Given the description of an element on the screen output the (x, y) to click on. 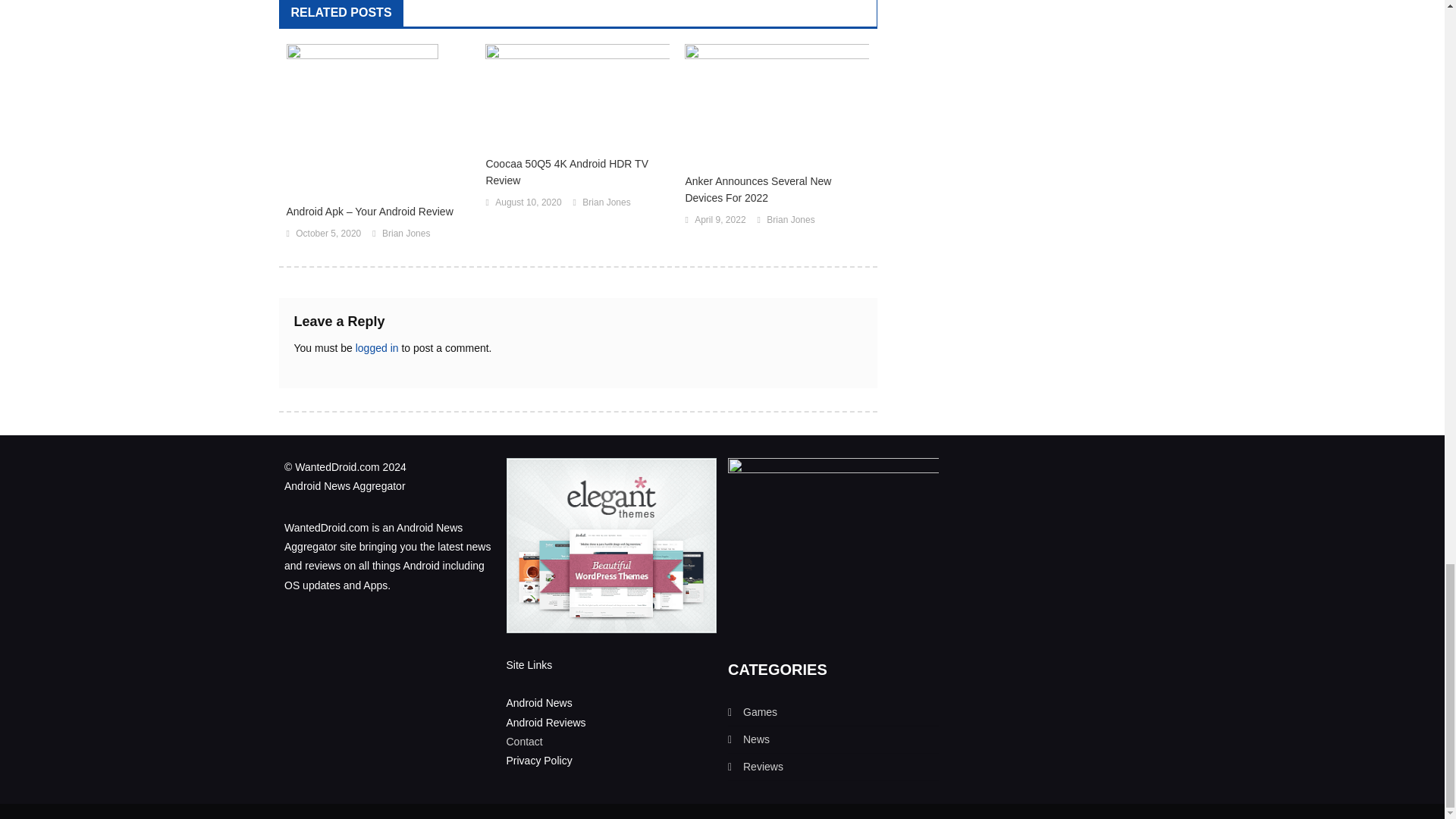
Brian Jones (405, 234)
Anker Announces Several New Devices For 2022 (776, 189)
Brian Jones (606, 202)
Coocaa 50Q5 4K Android HDR TV Review (576, 172)
October 5, 2020 (328, 234)
August 10, 2020 (527, 202)
